Given the description of an element on the screen output the (x, y) to click on. 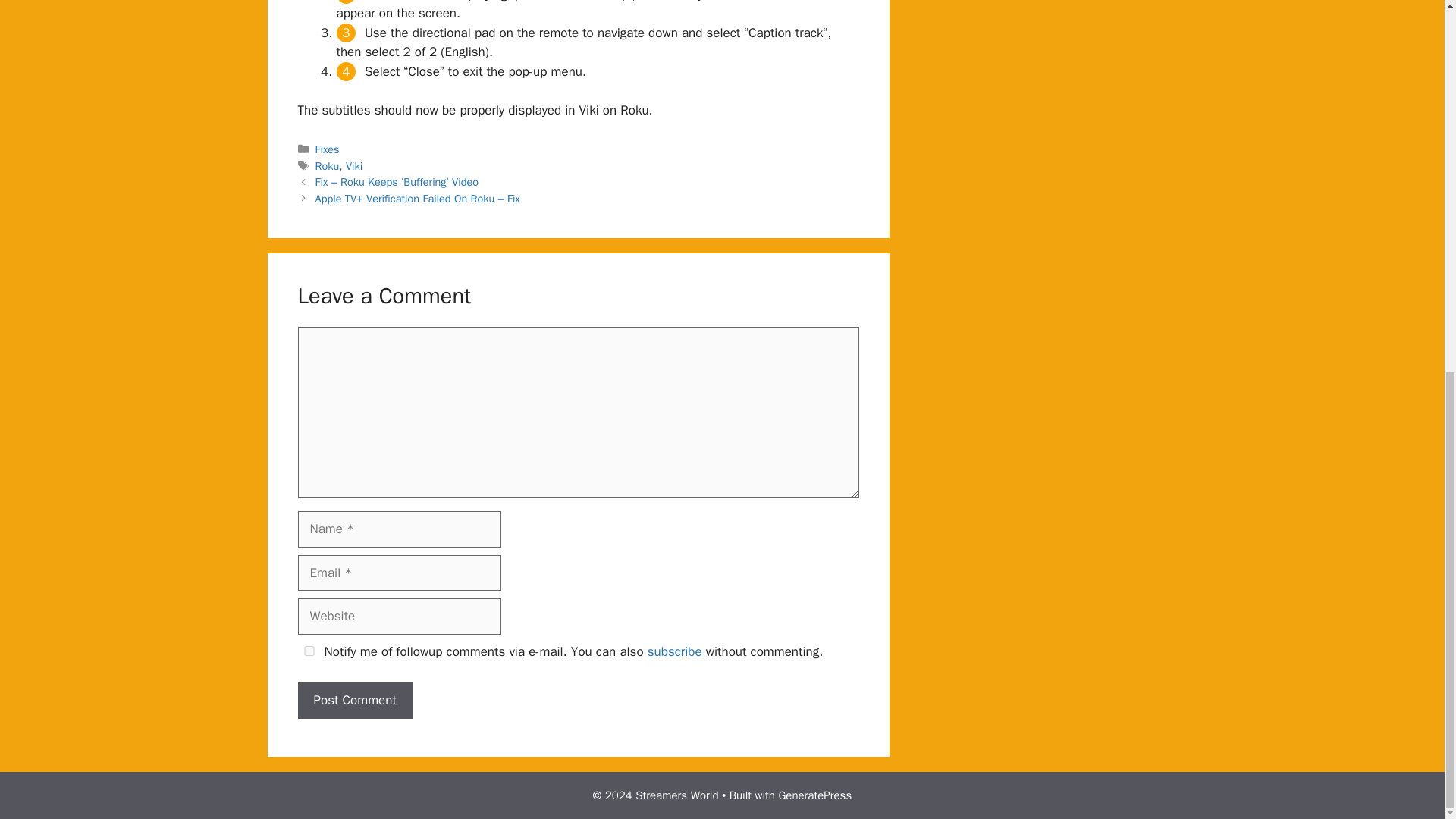
yes (308, 651)
Post Comment (354, 700)
subscribe (674, 651)
Roku (327, 165)
Post Comment (354, 700)
GeneratePress (814, 795)
Viki (354, 165)
Fixes (327, 149)
